Given the description of an element on the screen output the (x, y) to click on. 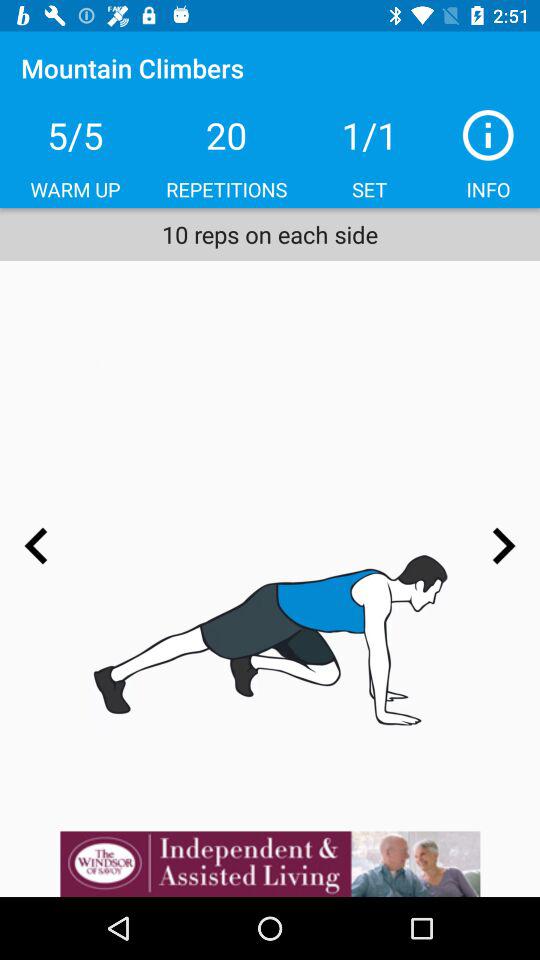
next (503, 545)
